Given the description of an element on the screen output the (x, y) to click on. 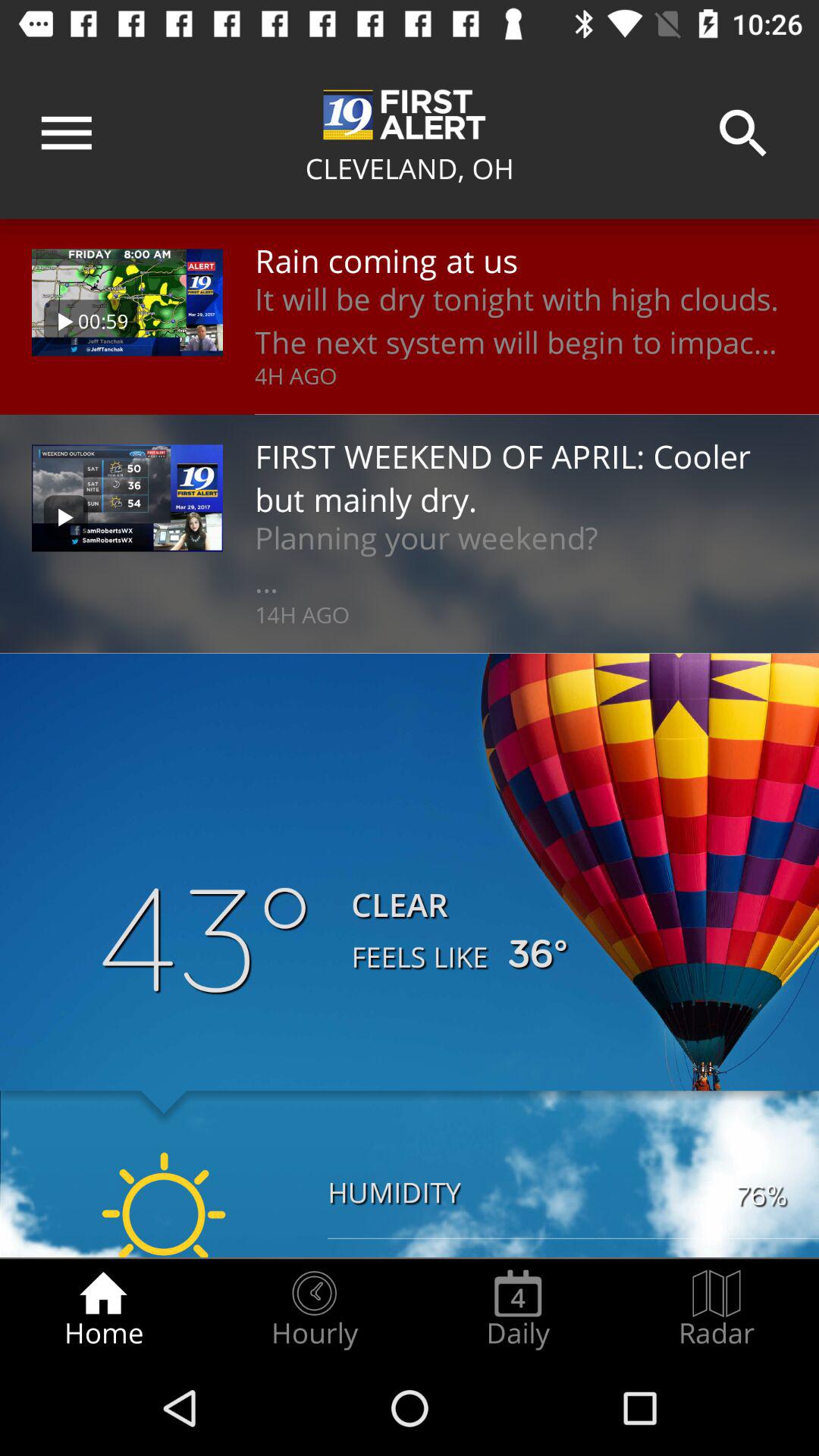
tap radio button to the left of hourly item (103, 1309)
